Given the description of an element on the screen output the (x, y) to click on. 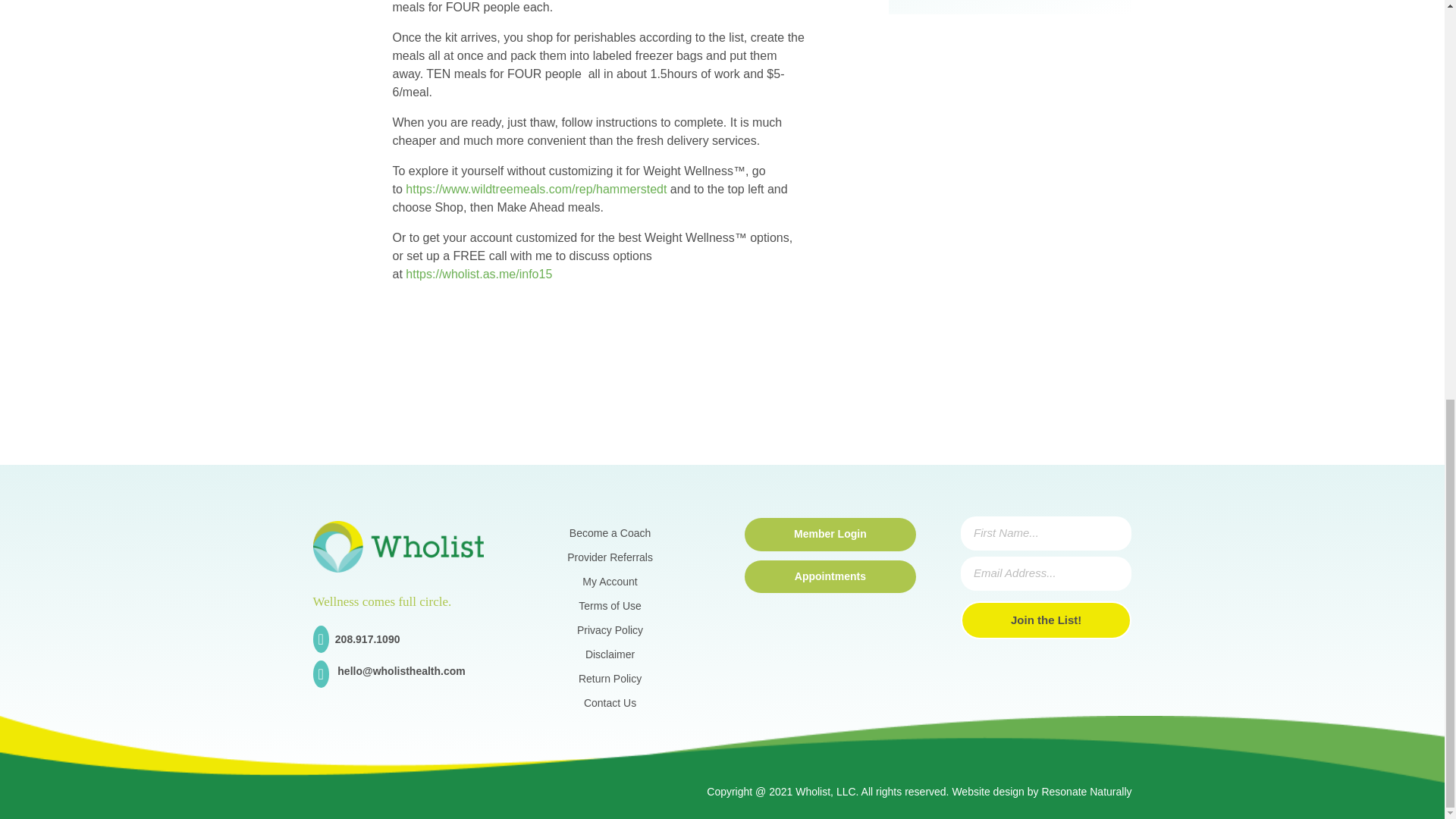
Terms of Use (609, 608)
Join the List! (1045, 620)
My Account (609, 584)
Privacy Policy (609, 633)
Contact Us (609, 705)
Provider Referrals (609, 560)
Disclaimer (609, 657)
wholist-logo (398, 546)
Return Policy (610, 681)
208.917.1090 (367, 639)
Become a Coach (609, 536)
Member Login (829, 534)
